Given the description of an element on the screen output the (x, y) to click on. 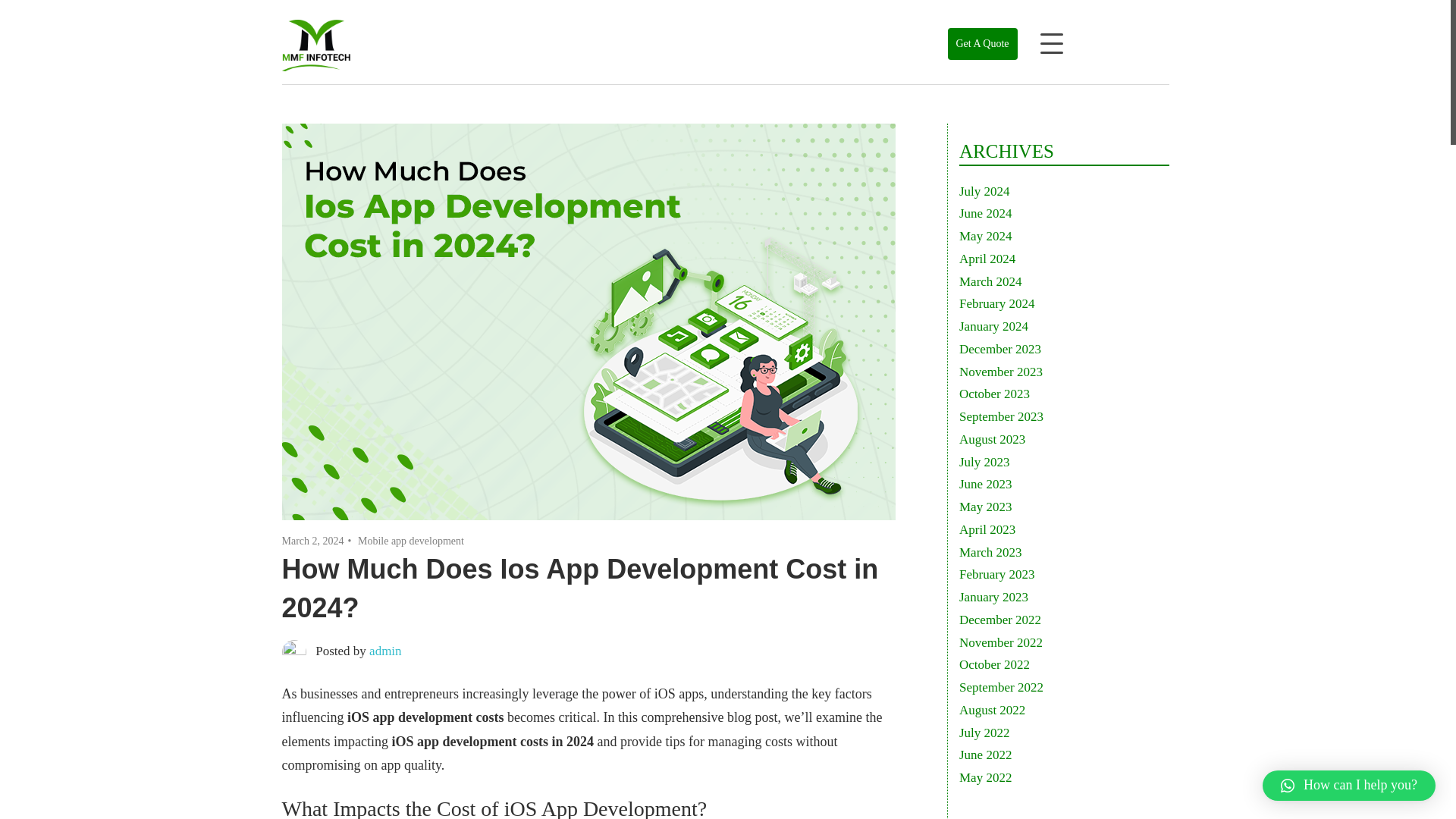
5:41 am (312, 541)
Get A Quote (982, 43)
View all posts by admin (385, 650)
